Given the description of an element on the screen output the (x, y) to click on. 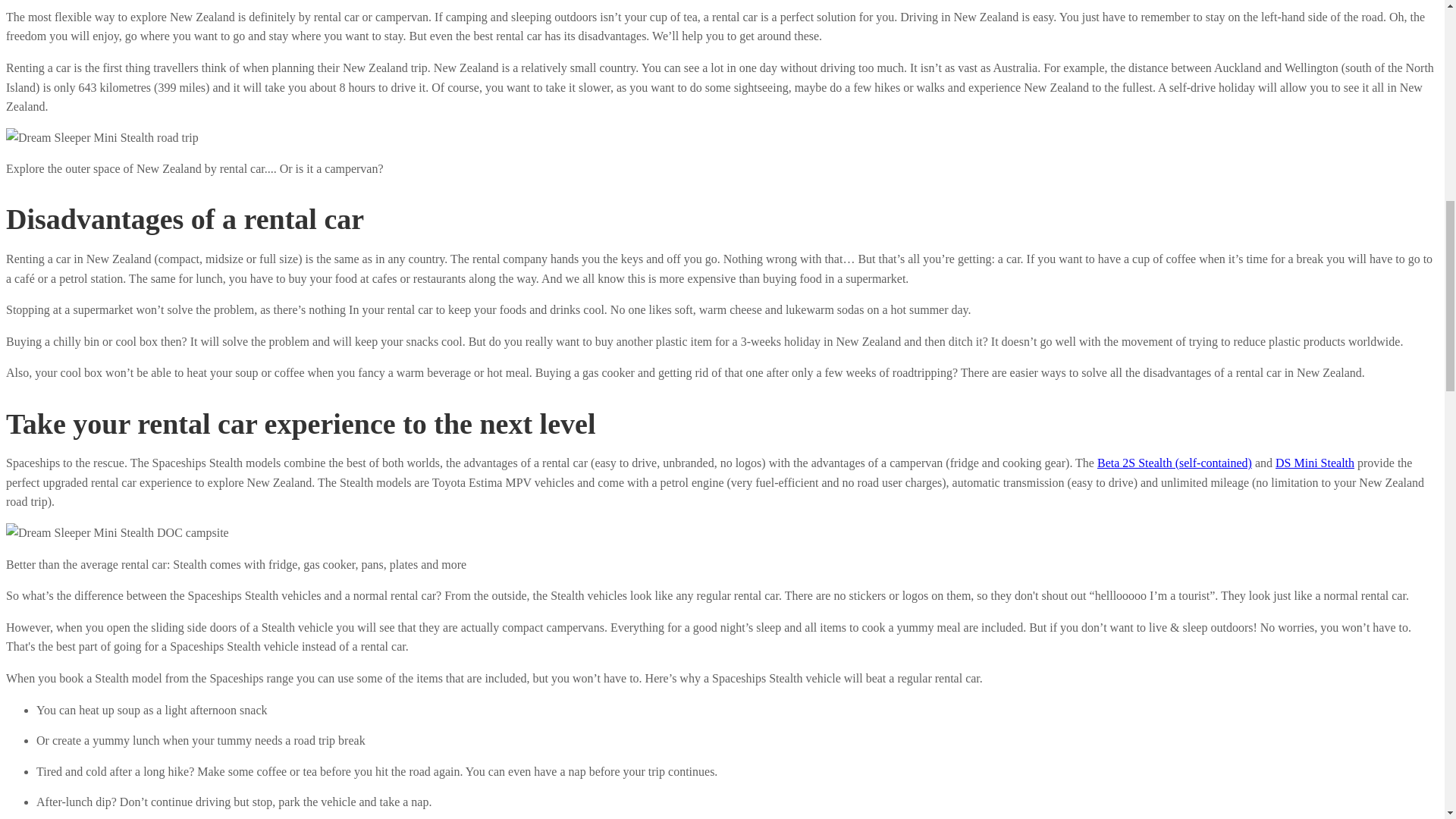
DS Mini Stealth (1314, 462)
Beta 2S Stealth Self-Contained specifications and photos (1174, 462)
